Given the description of an element on the screen output the (x, y) to click on. 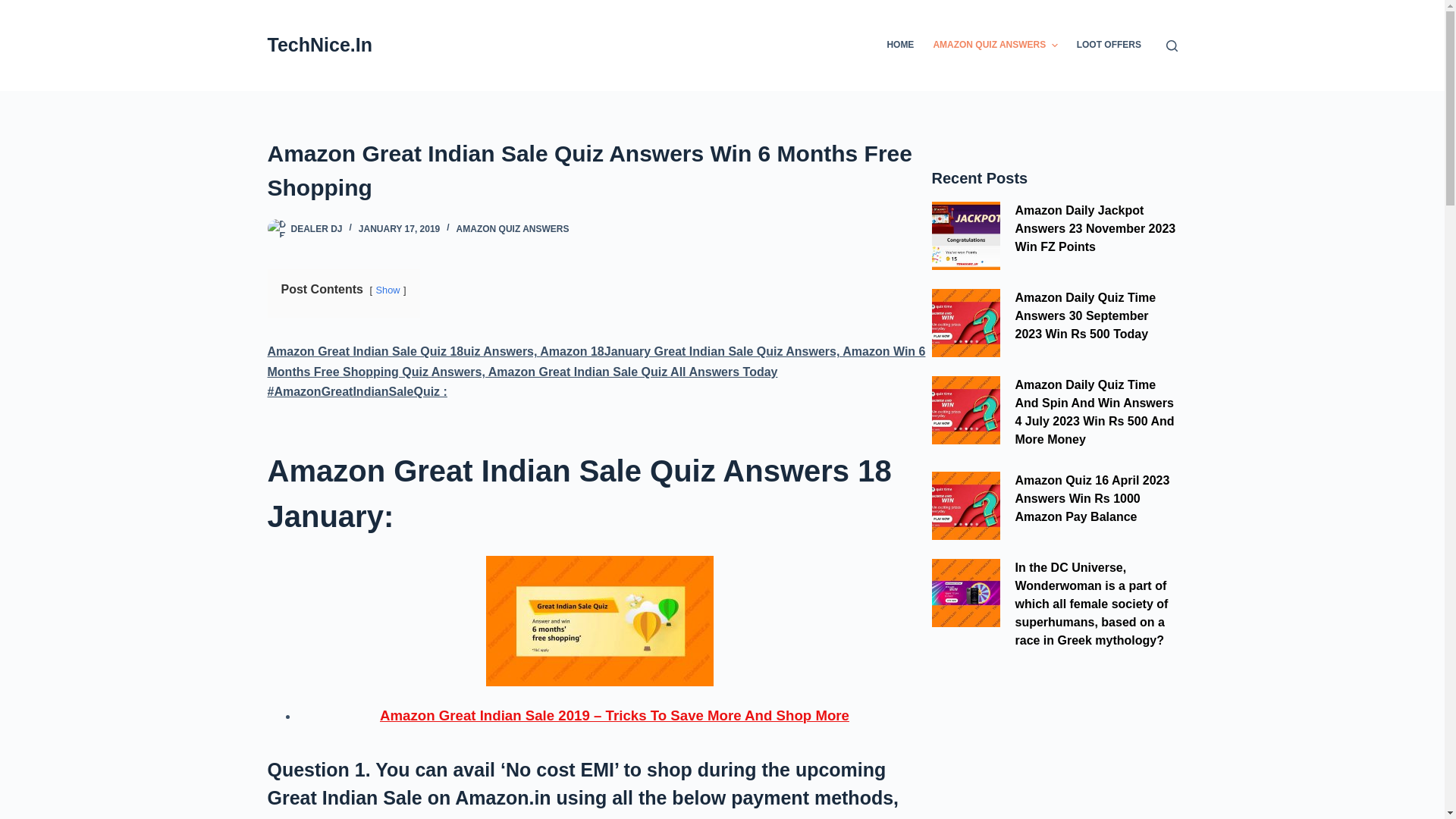
Skip to content (15, 7)
DEALER DJ (316, 228)
LOOT OFFERS (1108, 45)
Posts by Dealer DJ (316, 228)
TechNice.In (318, 44)
Amazon Daily Jackpot Answers 23 November 2023 Win FZ Points (1094, 228)
Show (387, 289)
Amazon Daily Jackpot Answers 23 November 2023 Win FZ Points (964, 235)
